Given the description of an element on the screen output the (x, y) to click on. 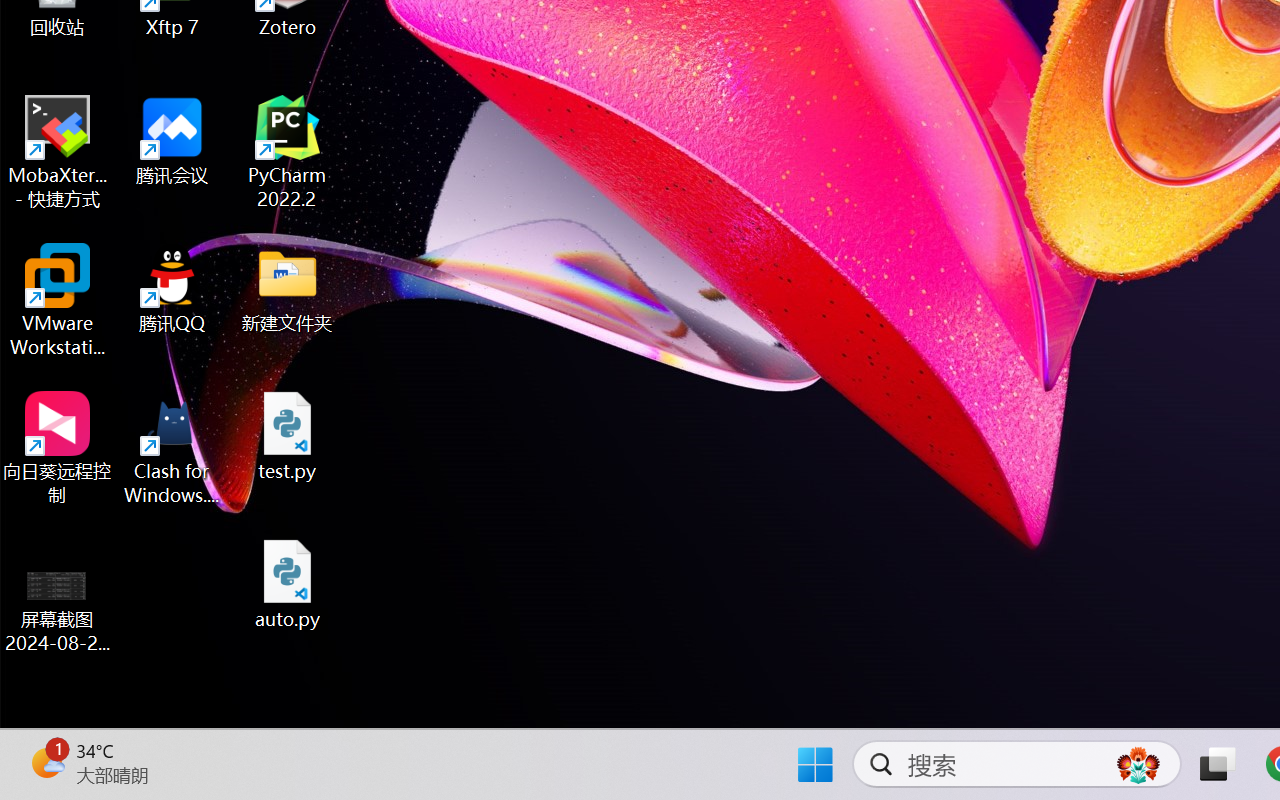
test.py (287, 436)
auto.py (287, 584)
VMware Workstation Pro (57, 300)
PyCharm 2022.2 (287, 152)
